Given the description of an element on the screen output the (x, y) to click on. 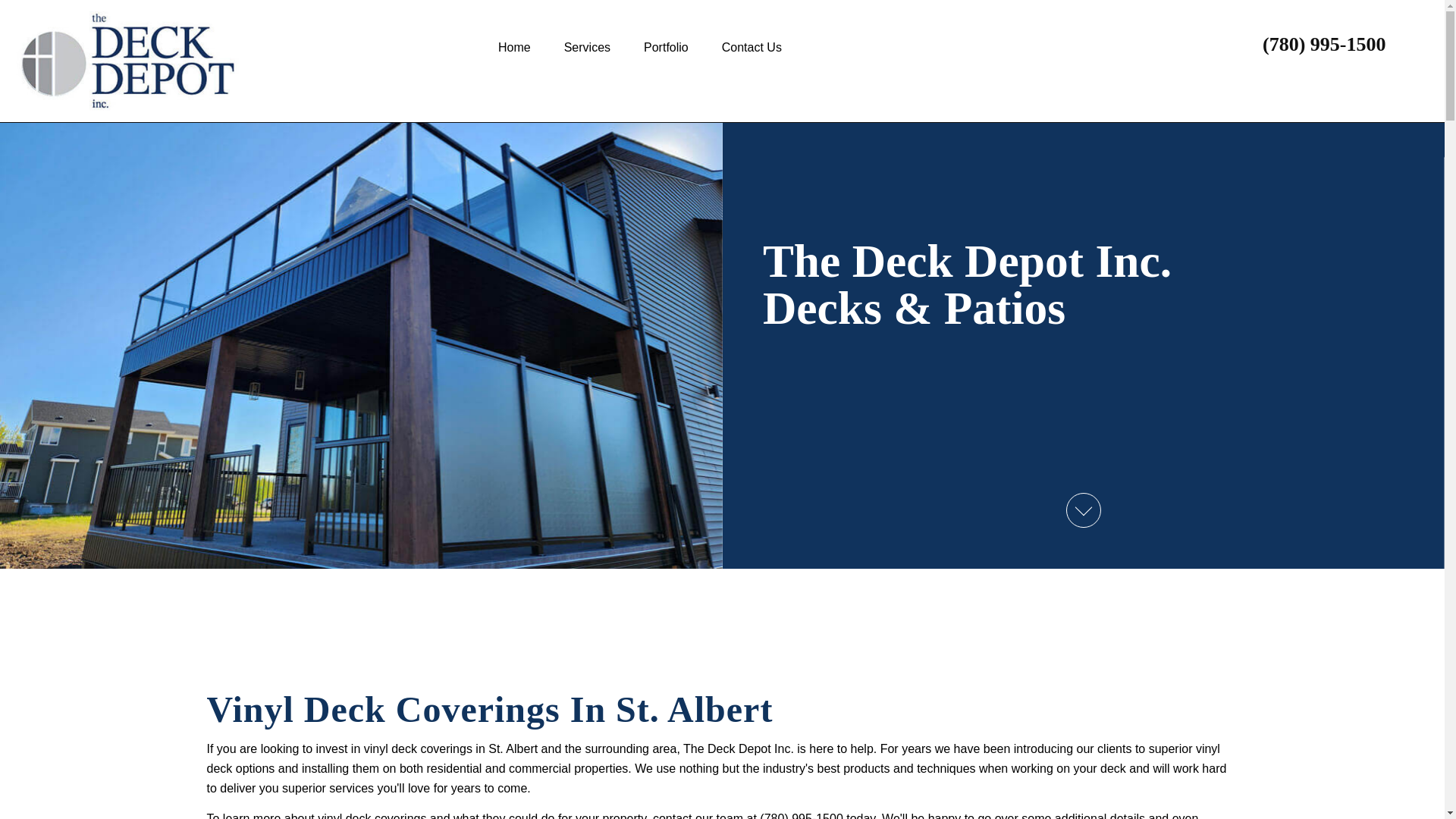
Home (514, 47)
Services (587, 47)
The Deck Depot Inc. Home (240, 61)
Portfolio (665, 47)
Contact Us (750, 47)
